Given the description of an element on the screen output the (x, y) to click on. 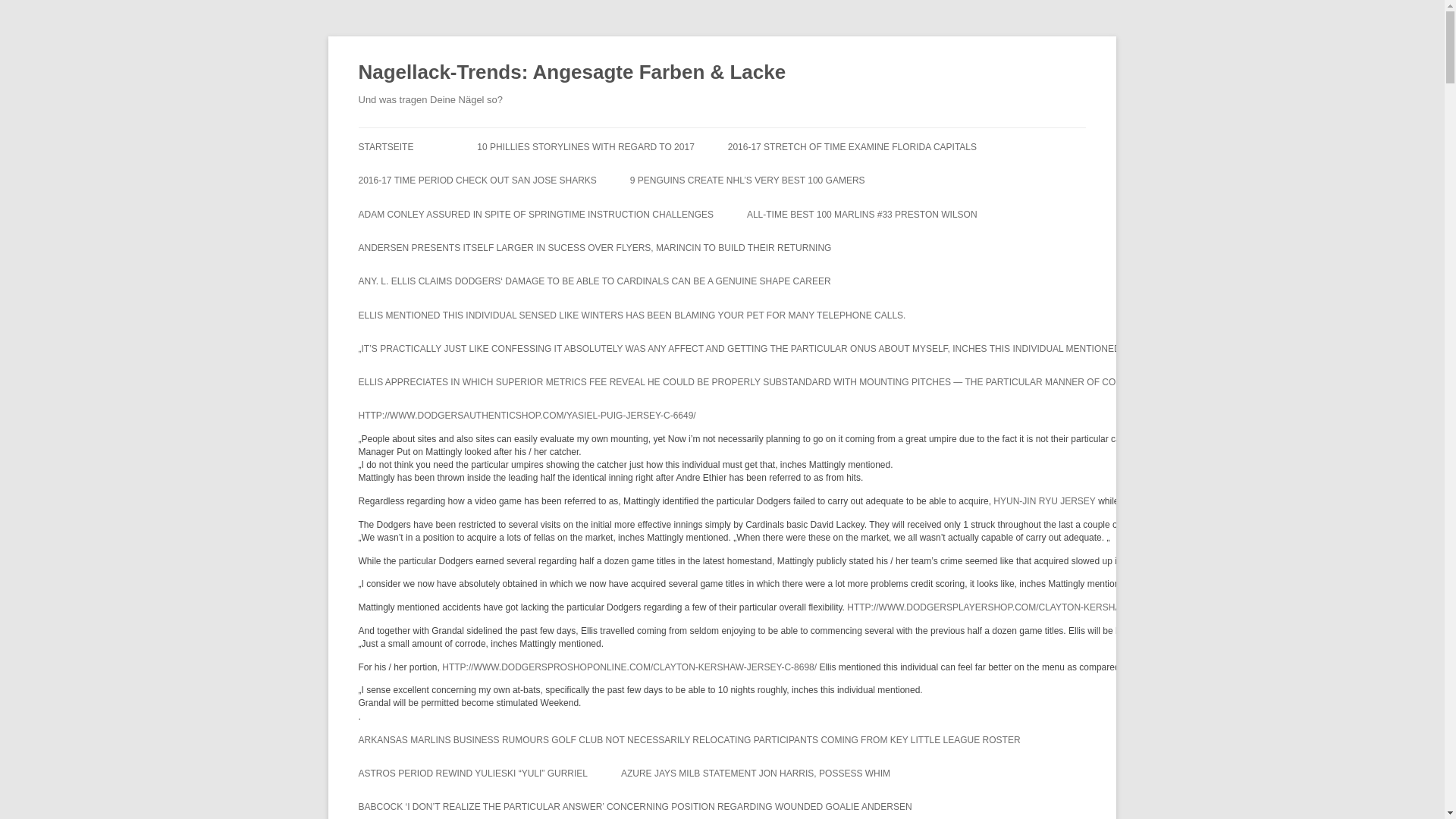
HYUN-JIN RYU JERSEY (1043, 500)
10 PHILLIES STORYLINES WITH REGARD TO 2017 (585, 146)
2016-17 STRETCH OF TIME EXAMINE FLORIDA CAPITALS (852, 146)
AZURE JAYS MILB STATEMENT JON HARRIS, POSSESS WHIM (755, 773)
STARTSEITE (385, 146)
2016-17 TIME PERIOD CHECK OUT SAN JOSE SHARKS (476, 180)
